Given the description of an element on the screen output the (x, y) to click on. 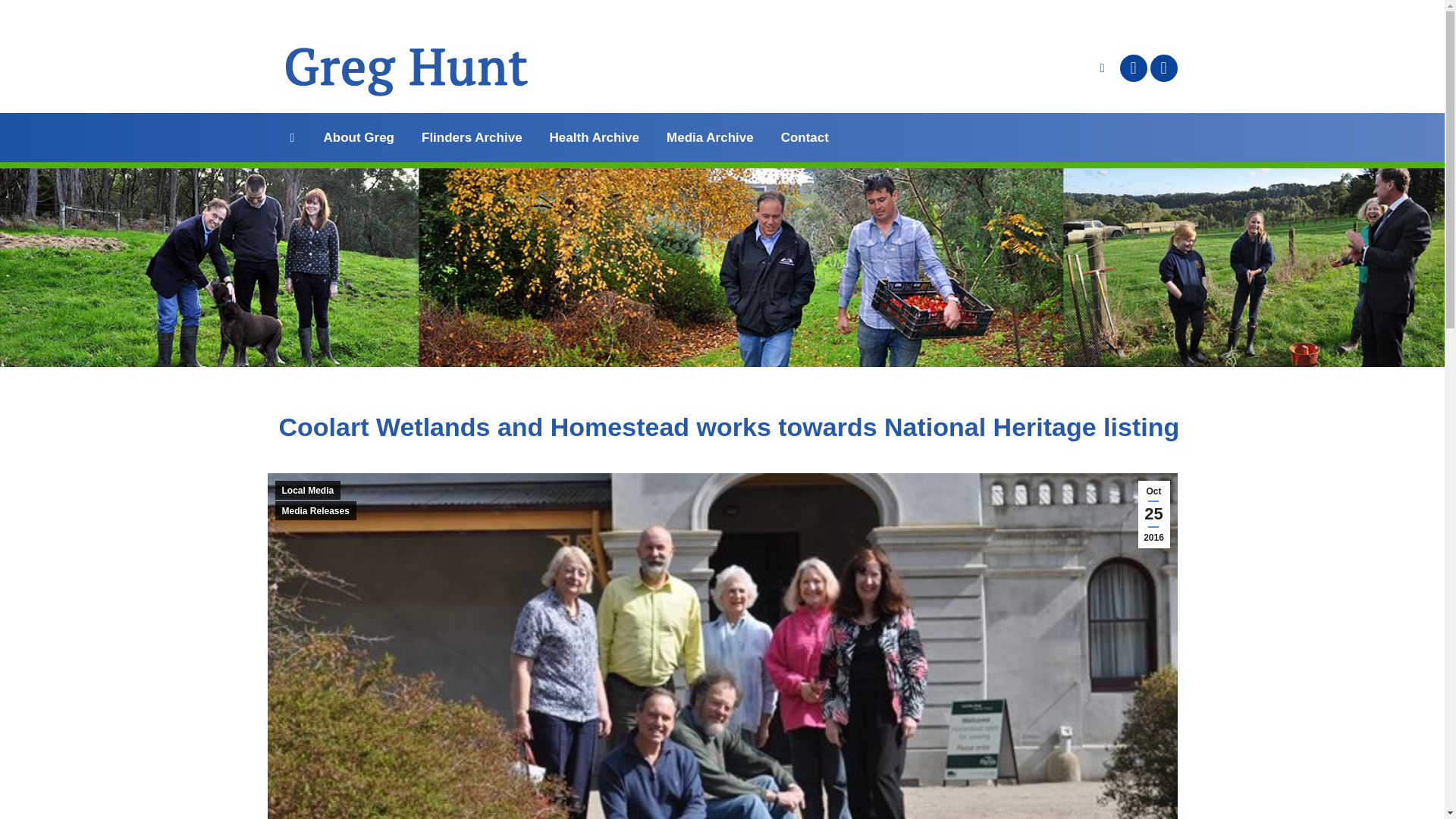
Media Archive (710, 137)
X page opens in new window (1163, 67)
Go! (24, 16)
Flinders Archive (472, 137)
12:00 am (1153, 513)
Facebook page opens in new window (1133, 67)
Facebook page opens in new window (1133, 67)
Health Archive (594, 137)
Contact (804, 137)
About Greg (358, 137)
X page opens in new window (1163, 67)
